Given the description of an element on the screen output the (x, y) to click on. 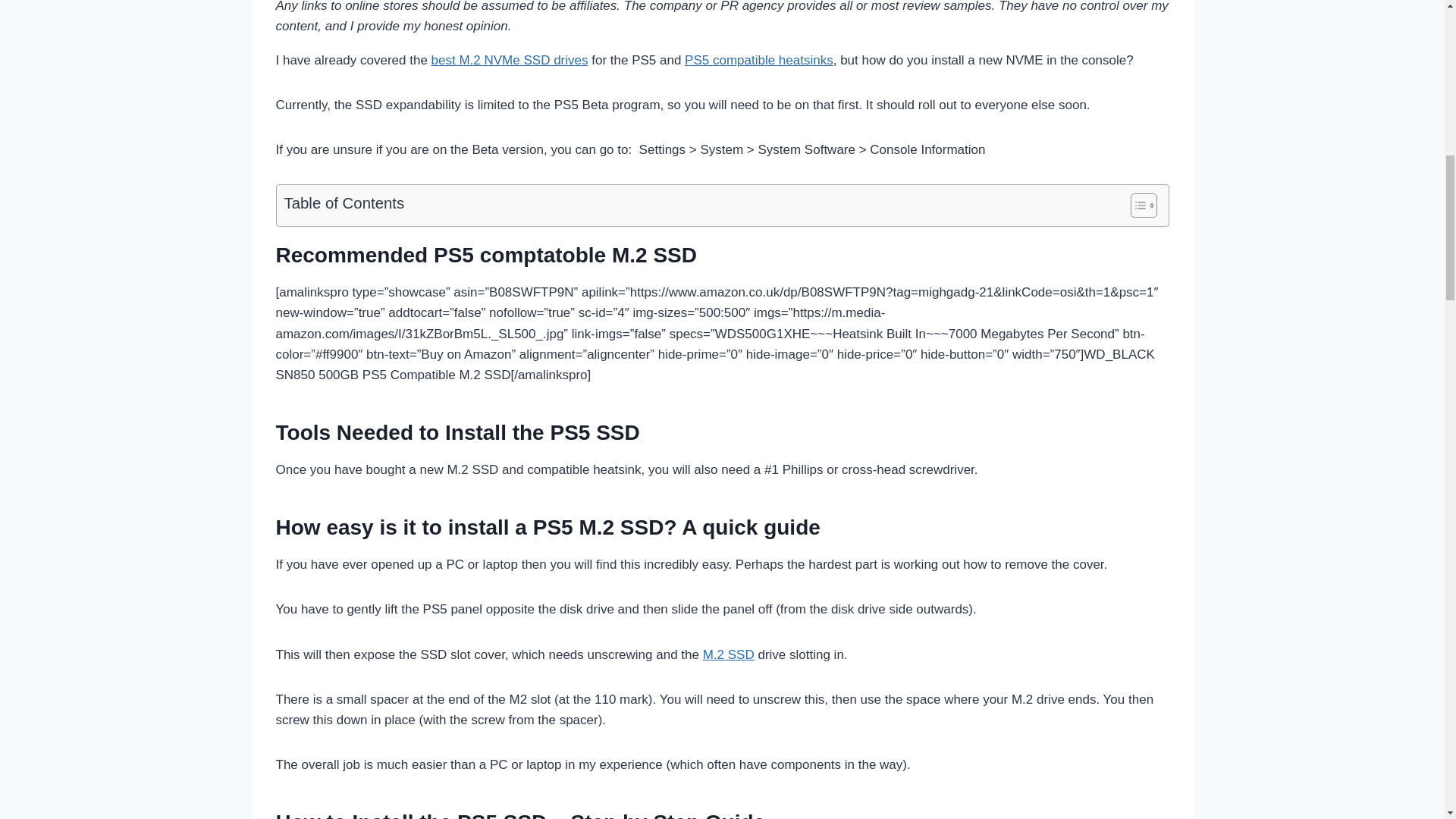
best M.2 NVMe SSD drives (509, 60)
M.2 SSD (728, 654)
PS5 compatible heatsinks (758, 60)
